Given the description of an element on the screen output the (x, y) to click on. 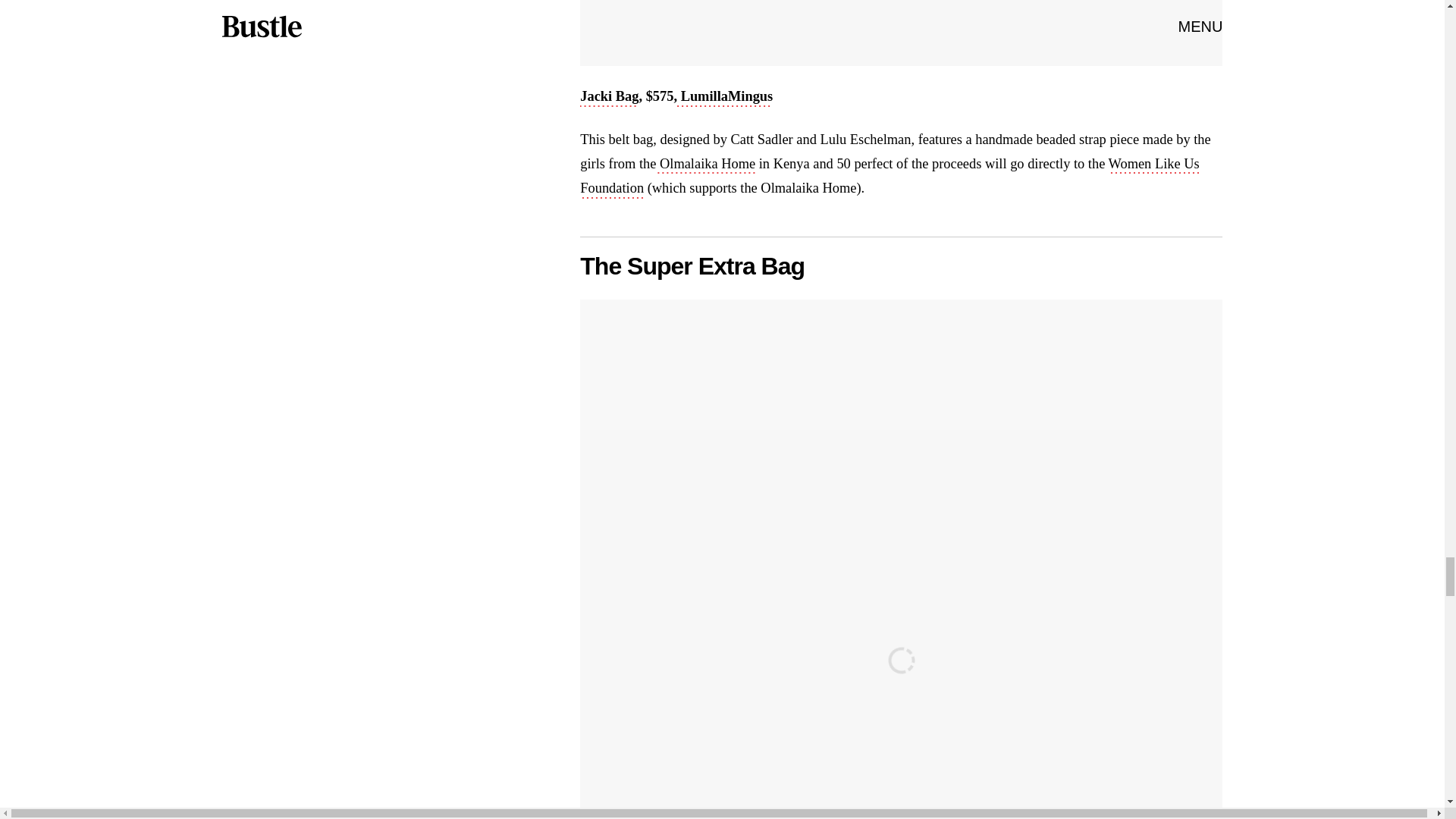
LumillaMingus (725, 97)
Jacki Bag (609, 97)
